Given the description of an element on the screen output the (x, y) to click on. 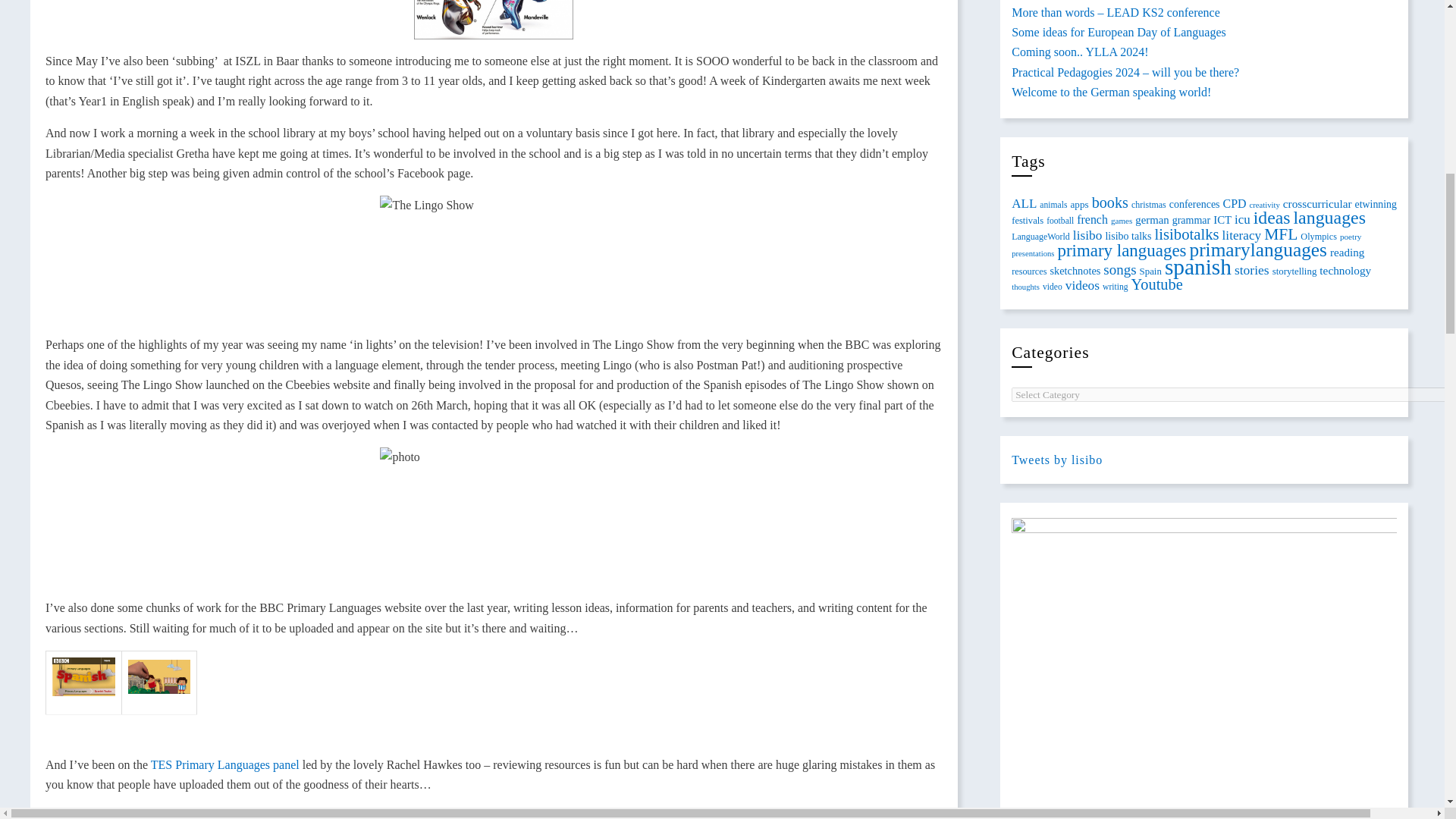
Some ideas for European Day of Languages (1118, 31)
Coming soon.. YLLA 2024! (1079, 51)
TES Primary Languages panel (225, 764)
christmas (1148, 204)
ALL (1023, 202)
books (1110, 202)
animals (1053, 204)
apps (1078, 204)
Welcome to the German speaking world! (1111, 91)
